Given the description of an element on the screen output the (x, y) to click on. 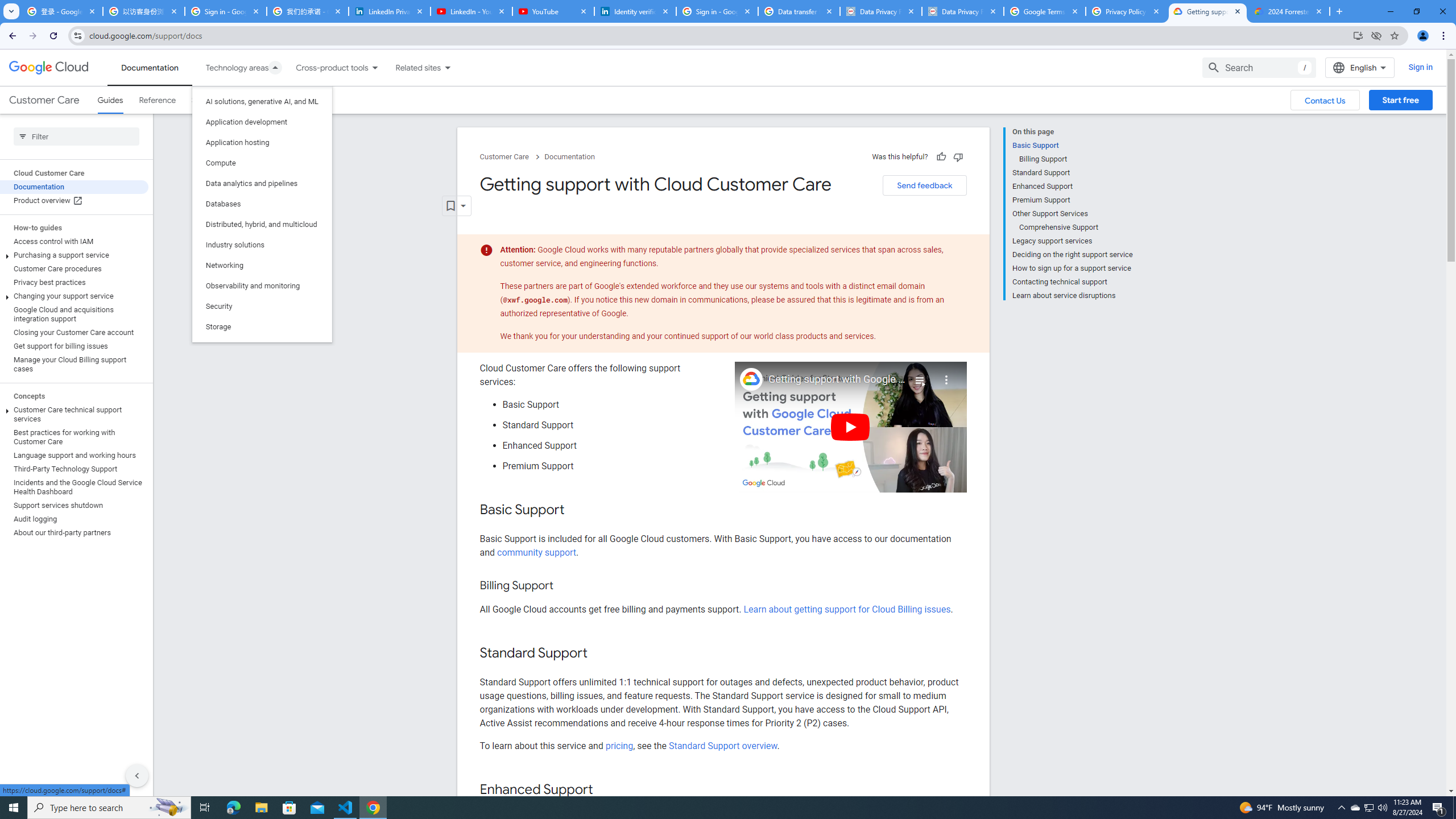
Identity verification via Persona | LinkedIn Help (635, 11)
Dropdown menu for Cross-product tools (374, 67)
pricing (619, 745)
Manage your Cloud Billing support cases (74, 363)
Reference (157, 99)
Copy link to this section: Enhanced Support (603, 789)
Open dropdown (456, 205)
Send feedback (924, 185)
Photo image of Google Cloud Tech (750, 378)
Language support and working hours (74, 455)
Cross-product tools (325, 67)
community support (536, 552)
